Given the description of an element on the screen output the (x, y) to click on. 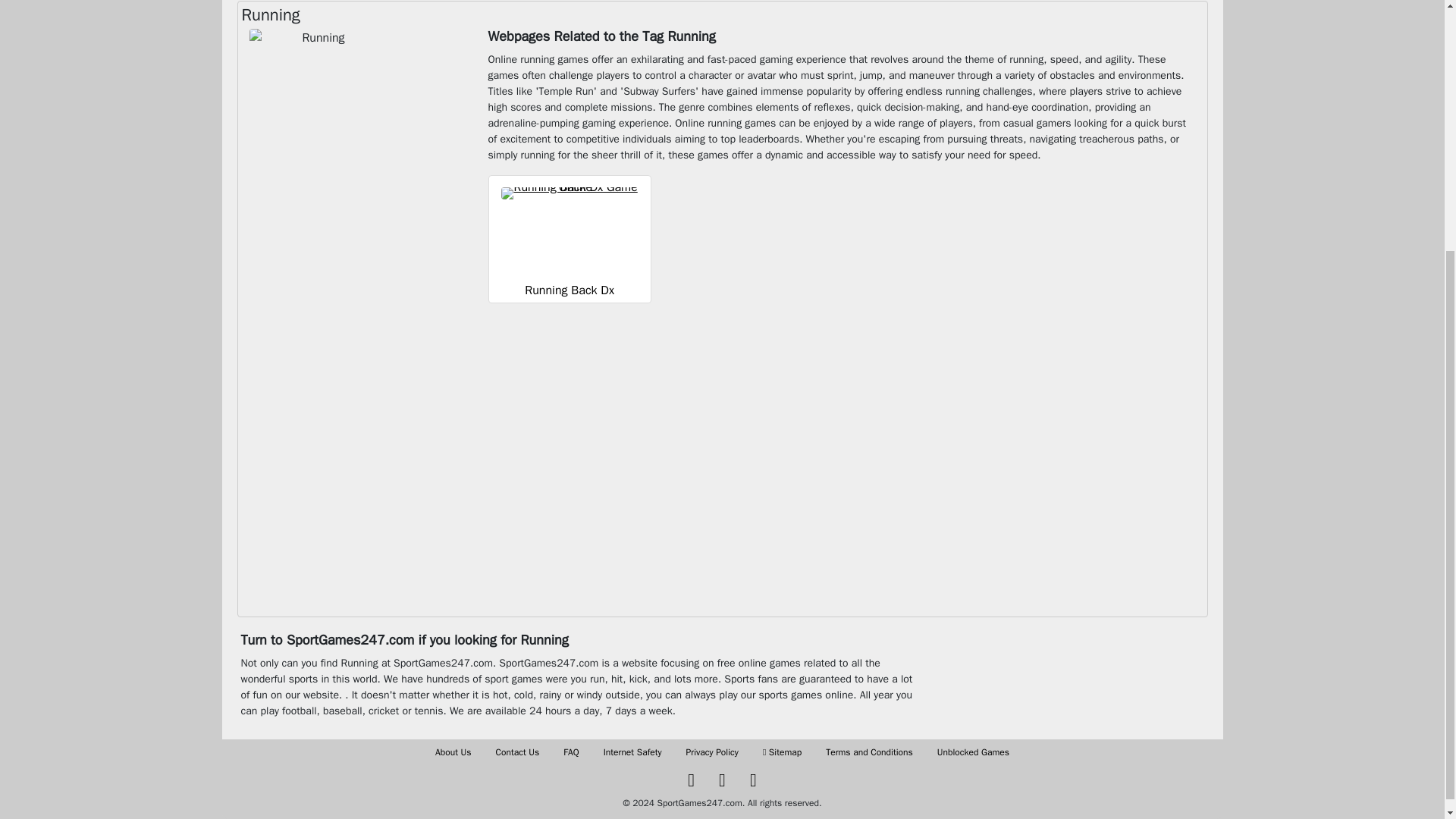
Unblocked Games (973, 752)
Play Running Back Dx (569, 290)
Privacy Policy (711, 752)
Terms and Conditions (868, 752)
Play Running Back Dx (568, 230)
Sitemap (782, 752)
About Us (452, 752)
Internet Safety (633, 752)
Contact Us (518, 752)
Running Back Dx (569, 290)
FAQ (570, 752)
Running Tag Image (316, 79)
